Given the description of an element on the screen output the (x, y) to click on. 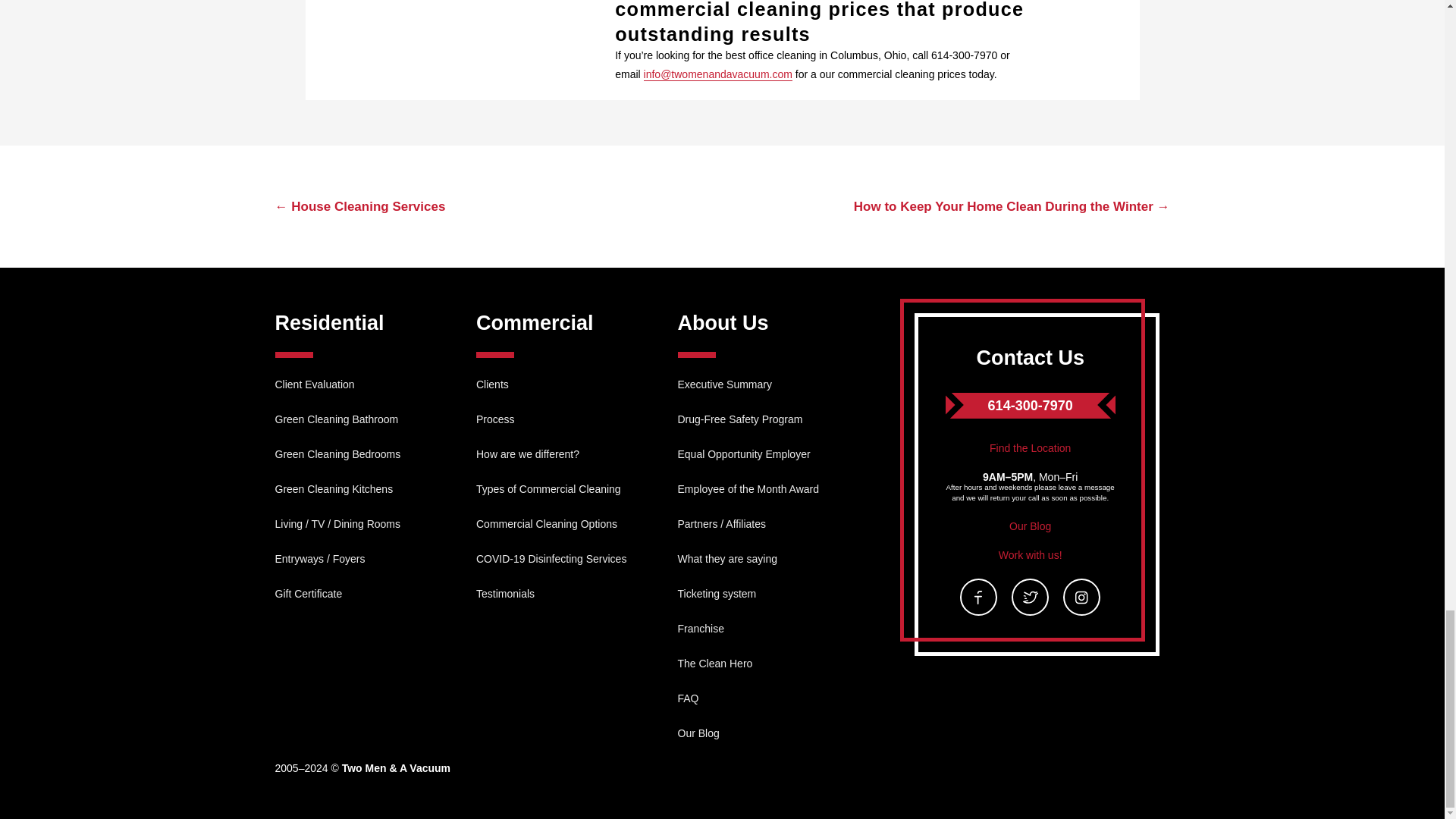
Commercial (535, 323)
Our Vacancies (1030, 554)
Residential (329, 323)
Instagram (1081, 596)
Facebook (978, 596)
About Us (723, 323)
Our Blog (1030, 526)
Twitter (1029, 596)
Contact (1030, 448)
